Given the description of an element on the screen output the (x, y) to click on. 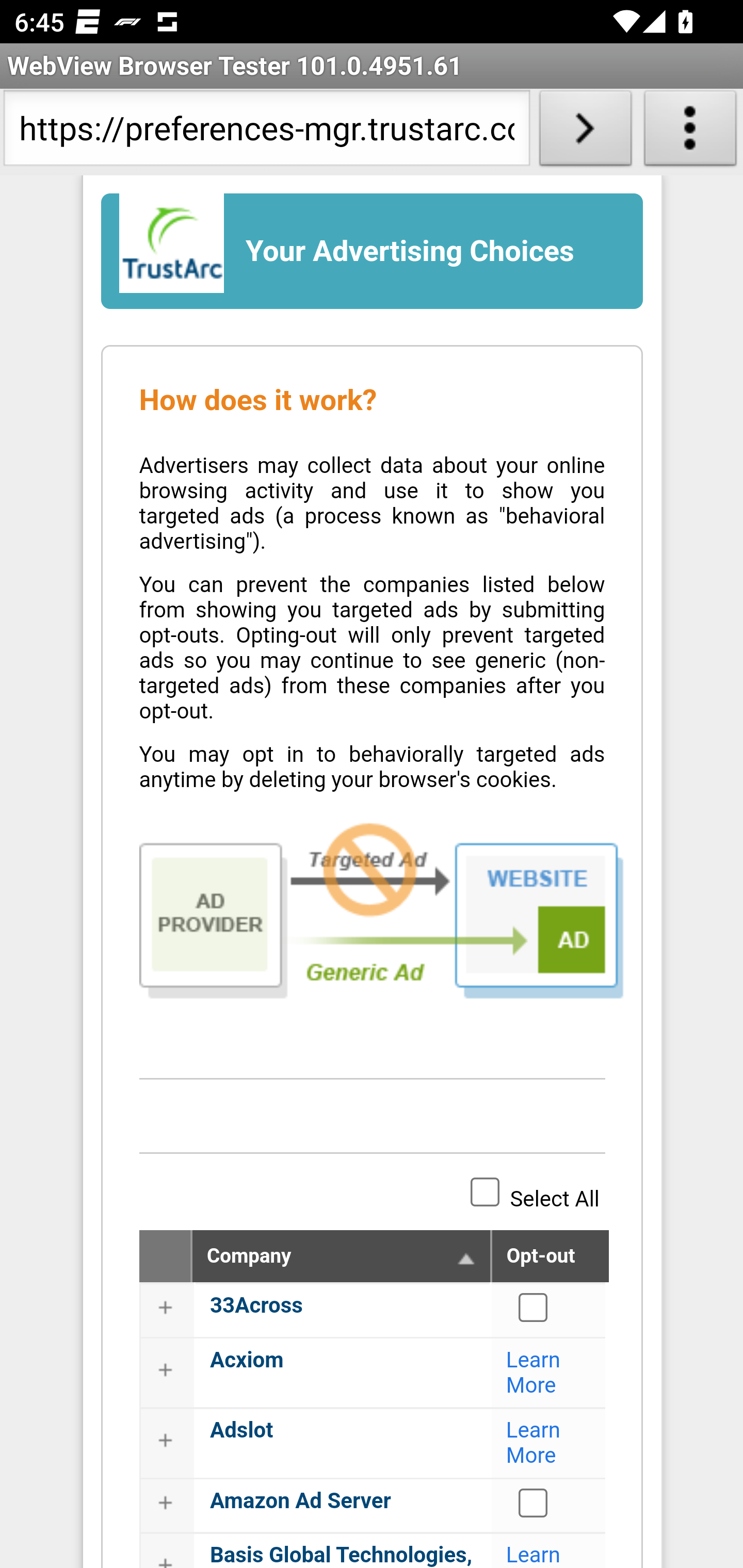
Load URL (585, 132)
About WebView (690, 132)
 Select All  (484, 1191)
Company list, sort alphabetically ascending (466, 1259)
33Across (256, 1306)
33Across (533, 1307)
Acxiom (247, 1359)
Learn More (533, 1372)
Adslot (241, 1430)
Learn More (533, 1443)
Amazon Ad Server (300, 1501)
Amazon Ad Server (533, 1502)
Basis Global Technologies, Inc. (341, 1554)
Learn More (533, 1554)
